Given the description of an element on the screen output the (x, y) to click on. 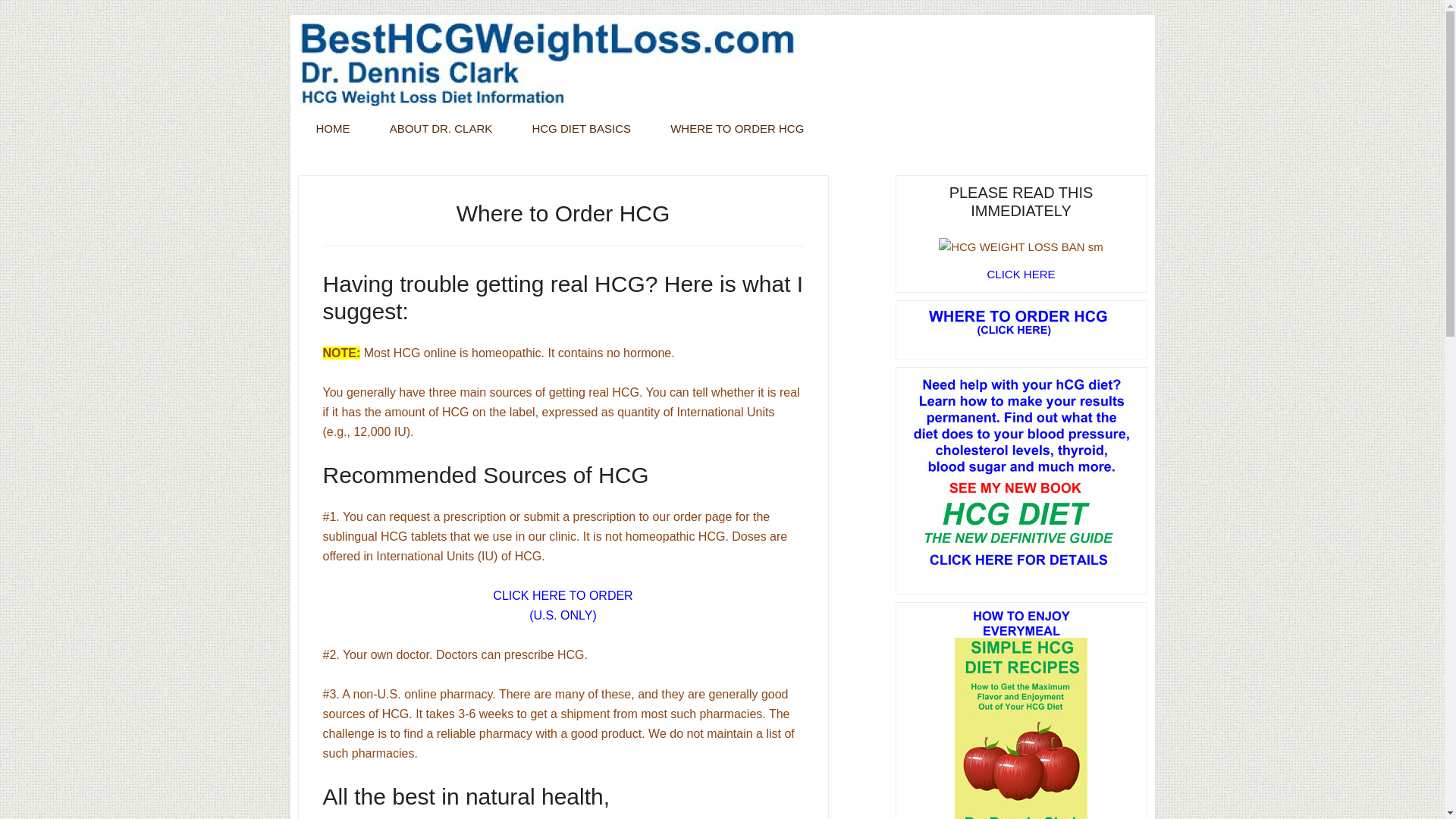
CLICK HERE (1020, 273)
HOME (332, 128)
HCG DIET BASICS (581, 128)
WHERE TO ORDER HCG (737, 128)
ABOUT DR. CLARK (441, 128)
